Given the description of an element on the screen output the (x, y) to click on. 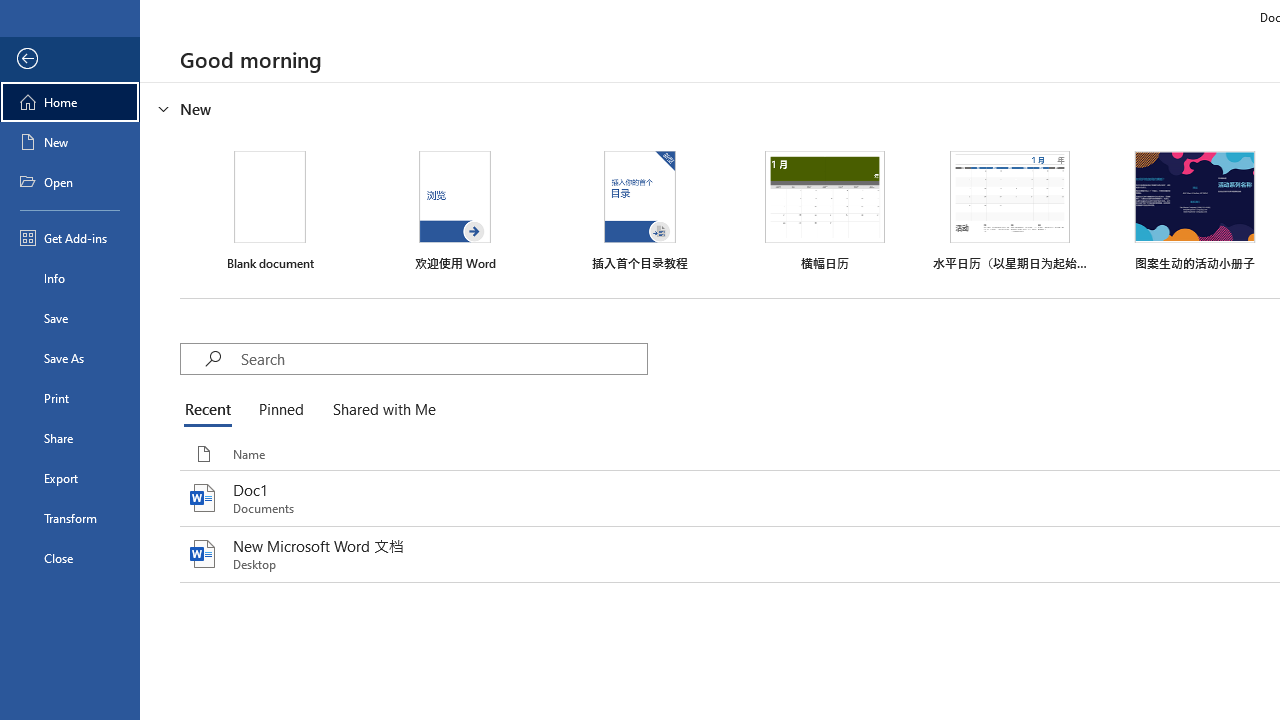
Get Add-ins (69, 237)
Blank document (269, 211)
Recent (212, 410)
Export (69, 477)
Pinned (280, 410)
Info (69, 277)
Back (69, 59)
Hide or show region (164, 108)
